Given the description of an element on the screen output the (x, y) to click on. 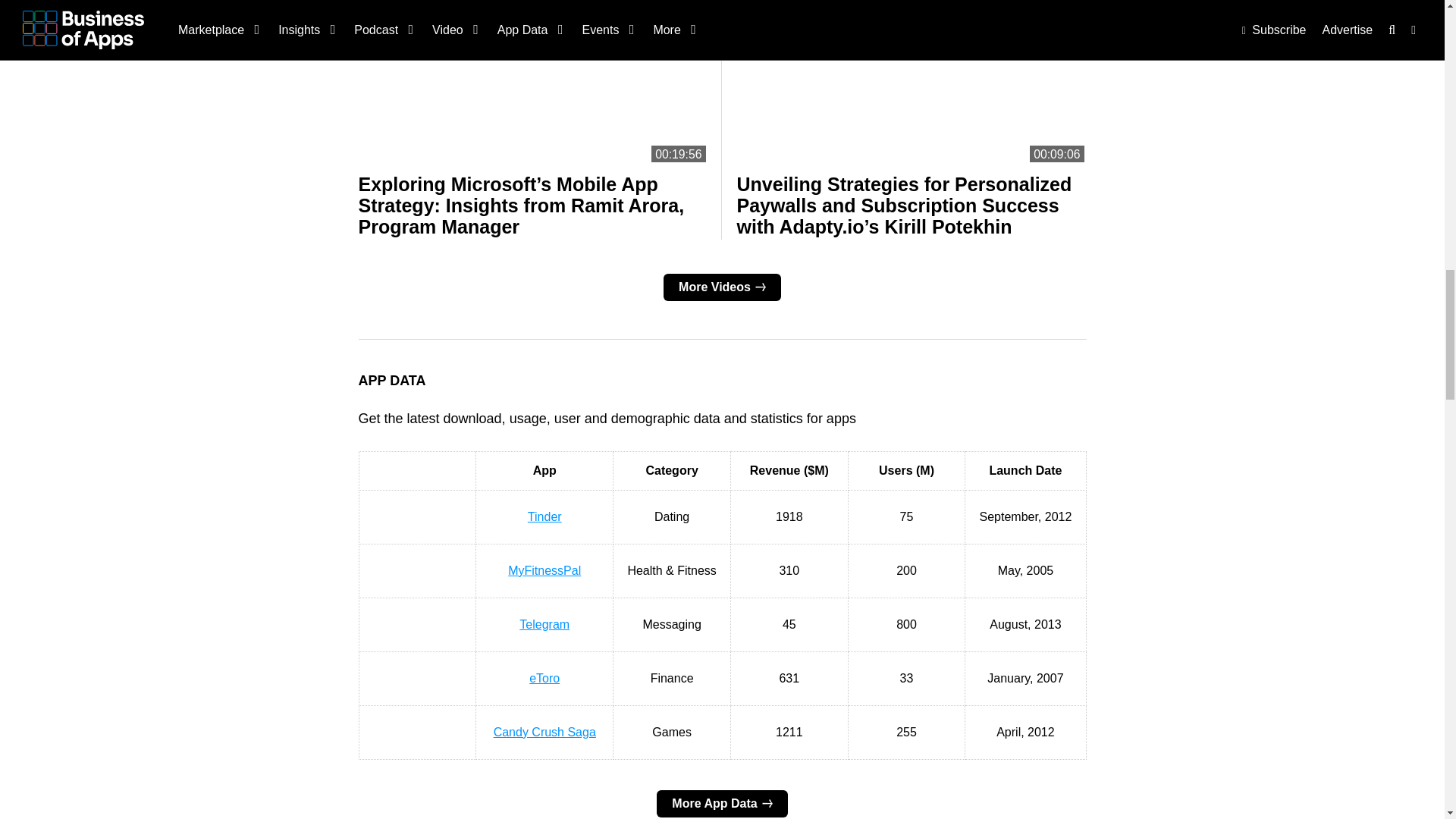
MyFitnessPal (416, 562)
Telegram (544, 624)
MyFitnessPal (544, 570)
Tinder (416, 508)
Tinder (544, 516)
eToro (544, 677)
eToro (416, 670)
Candy Crush Saga (544, 731)
Telegram (416, 616)
Candy Crush Saga (416, 724)
